Given the description of an element on the screen output the (x, y) to click on. 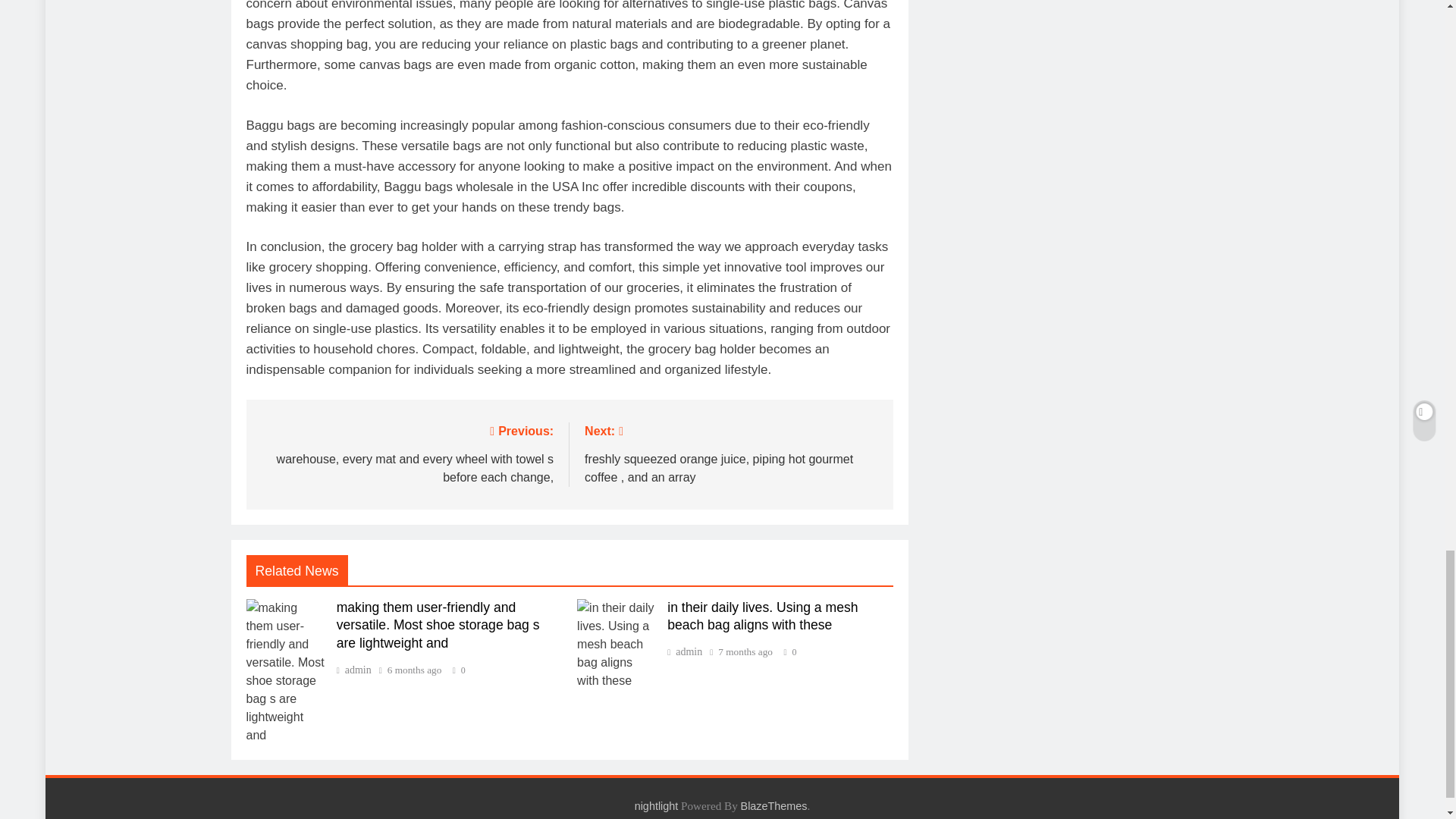
admin (683, 651)
admin (353, 669)
7 months ago (745, 652)
6 months ago (414, 670)
